Given the description of an element on the screen output the (x, y) to click on. 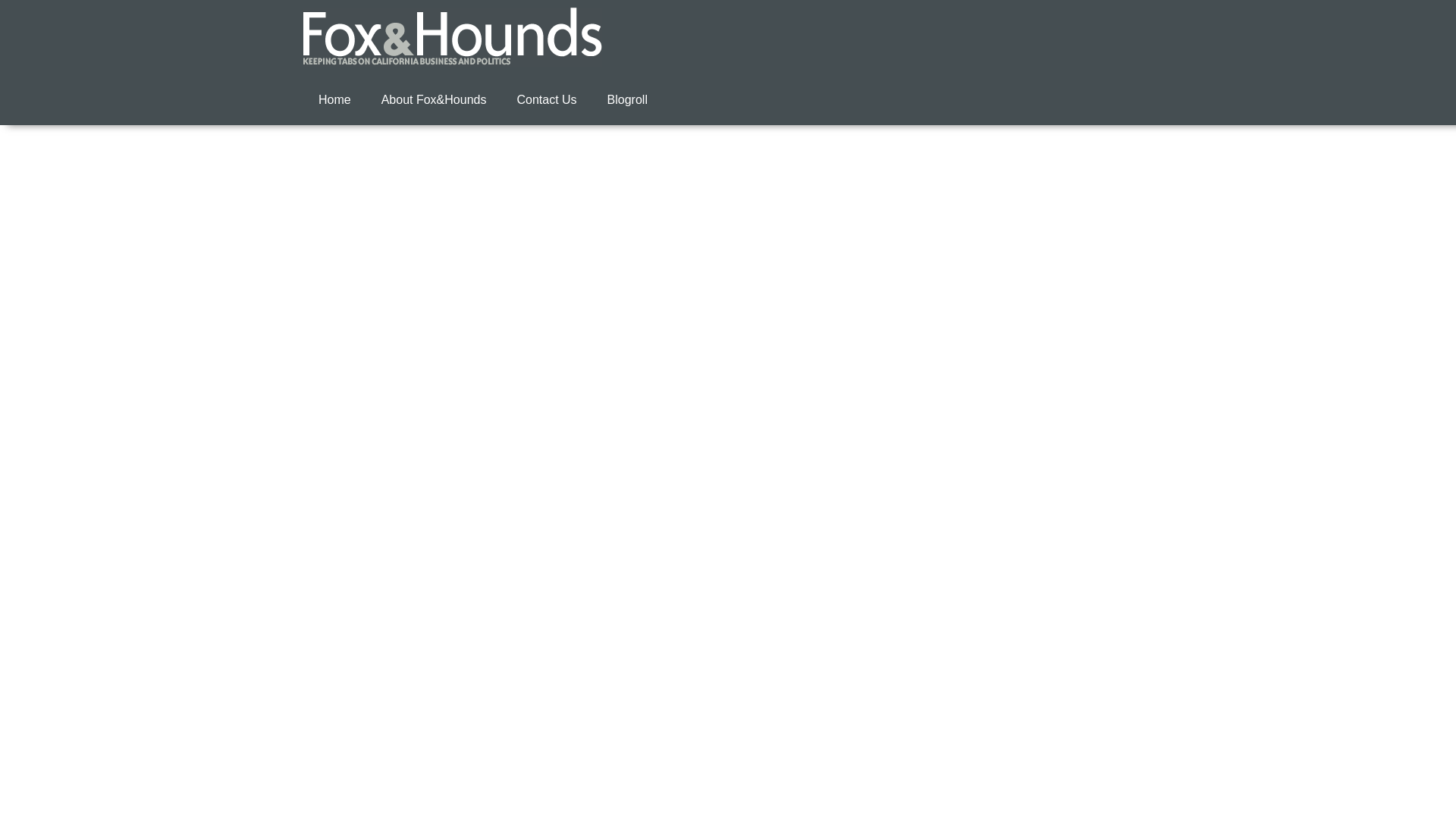
Blogroll (627, 99)
Contact Us (545, 99)
Home (334, 99)
